Given the description of an element on the screen output the (x, y) to click on. 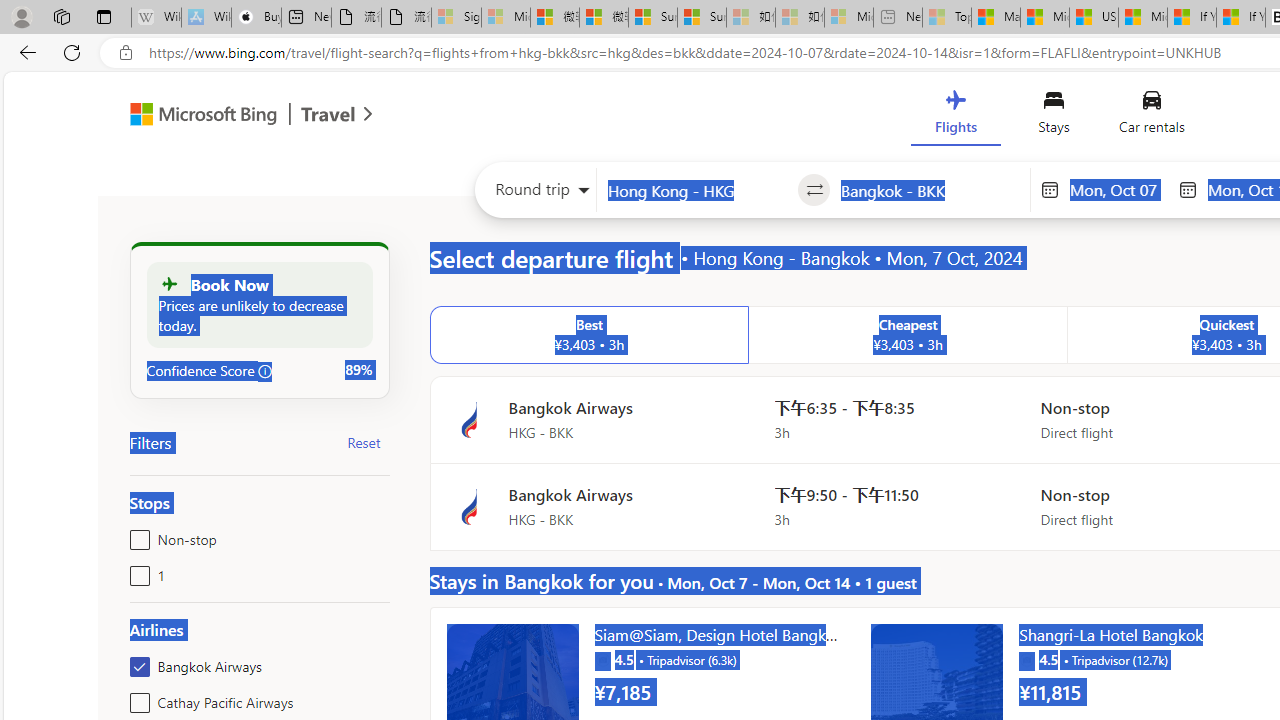
1 (136, 571)
Car rentals (1150, 116)
Microsoft account | Account Checkup - Sleeping (848, 17)
Class: msft-bing-logo msft-bing-logo-desktop (198, 114)
Microsoft Bing (194, 116)
Select trip type (535, 193)
Marine life - MSN - Sleeping (995, 17)
Wikipedia - Sleeping (155, 17)
Bangkok Airways (136, 662)
